Given the description of an element on the screen output the (x, y) to click on. 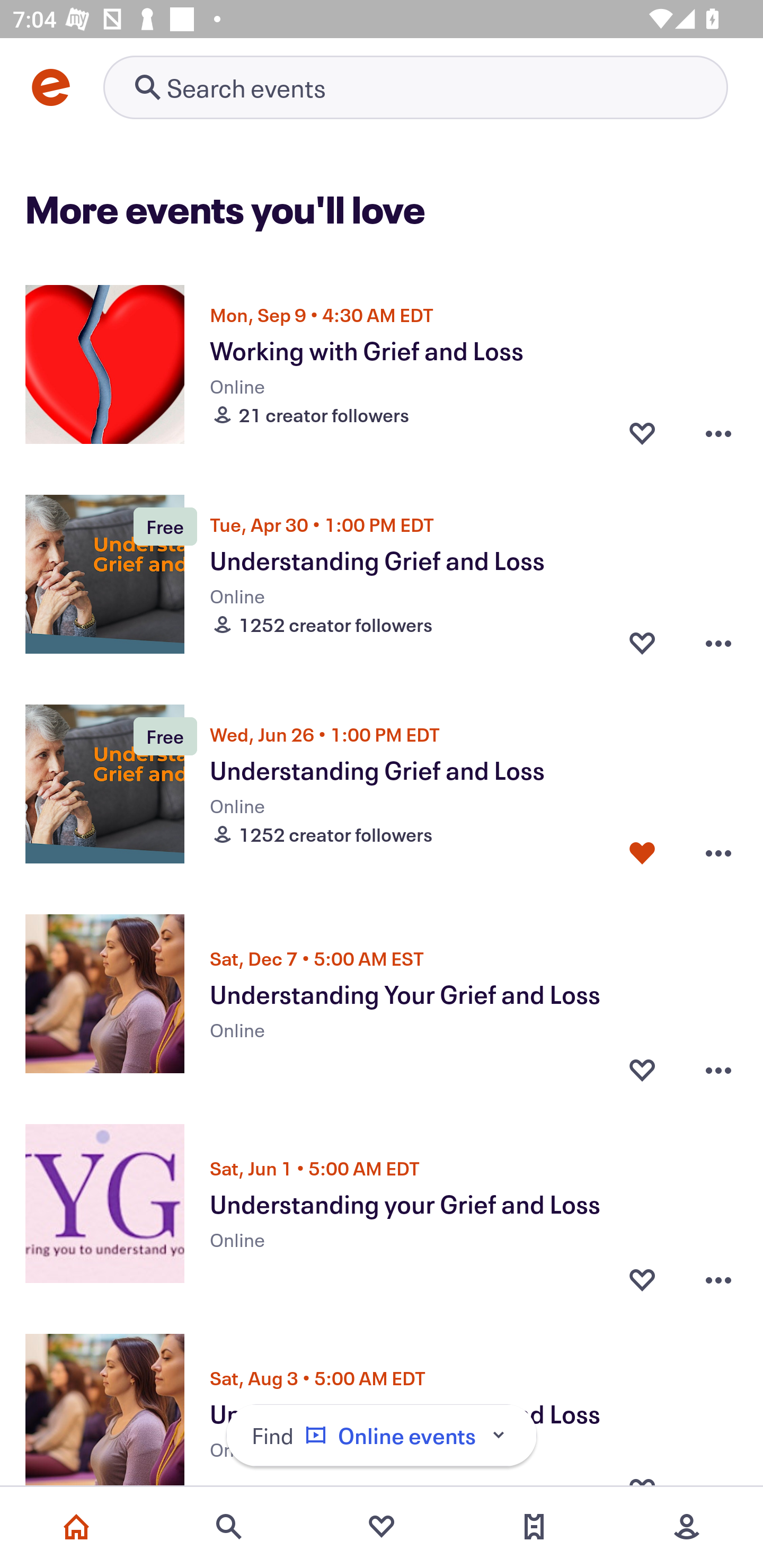
Retry's image Search events (415, 86)
Favorite button (642, 431)
Overflow menu button (718, 431)
Favorite button (642, 641)
Overflow menu button (718, 641)
Favorite button (642, 852)
Overflow menu button (718, 852)
Favorite button (642, 1065)
Overflow menu button (718, 1065)
Favorite button (642, 1274)
Overflow menu button (718, 1274)
Find Online events (381, 1435)
Home (76, 1526)
Search events (228, 1526)
Favorites (381, 1526)
Tickets (533, 1526)
More (686, 1526)
